Given the description of an element on the screen output the (x, y) to click on. 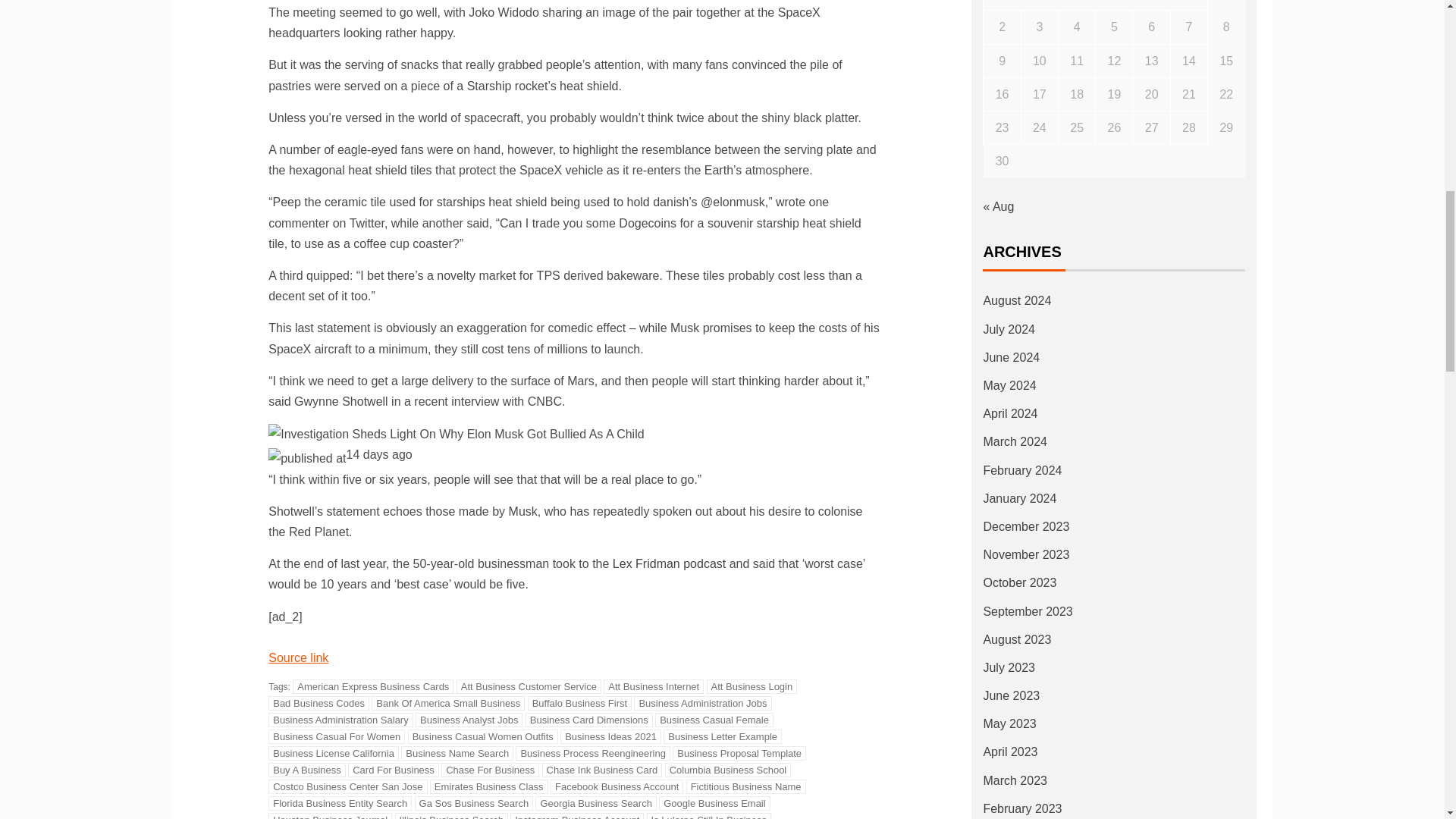
Bad Business Codes (318, 703)
Att Business Login (751, 686)
Att Business Customer Service (529, 686)
Buffalo Business First (579, 703)
American Express Business Cards (372, 686)
Business Administration Jobs (702, 703)
Source link (298, 657)
Business Analyst Jobs (468, 719)
Bank Of America Small Business (447, 703)
Lex Fridman podcast (668, 563)
